Given the description of an element on the screen output the (x, y) to click on. 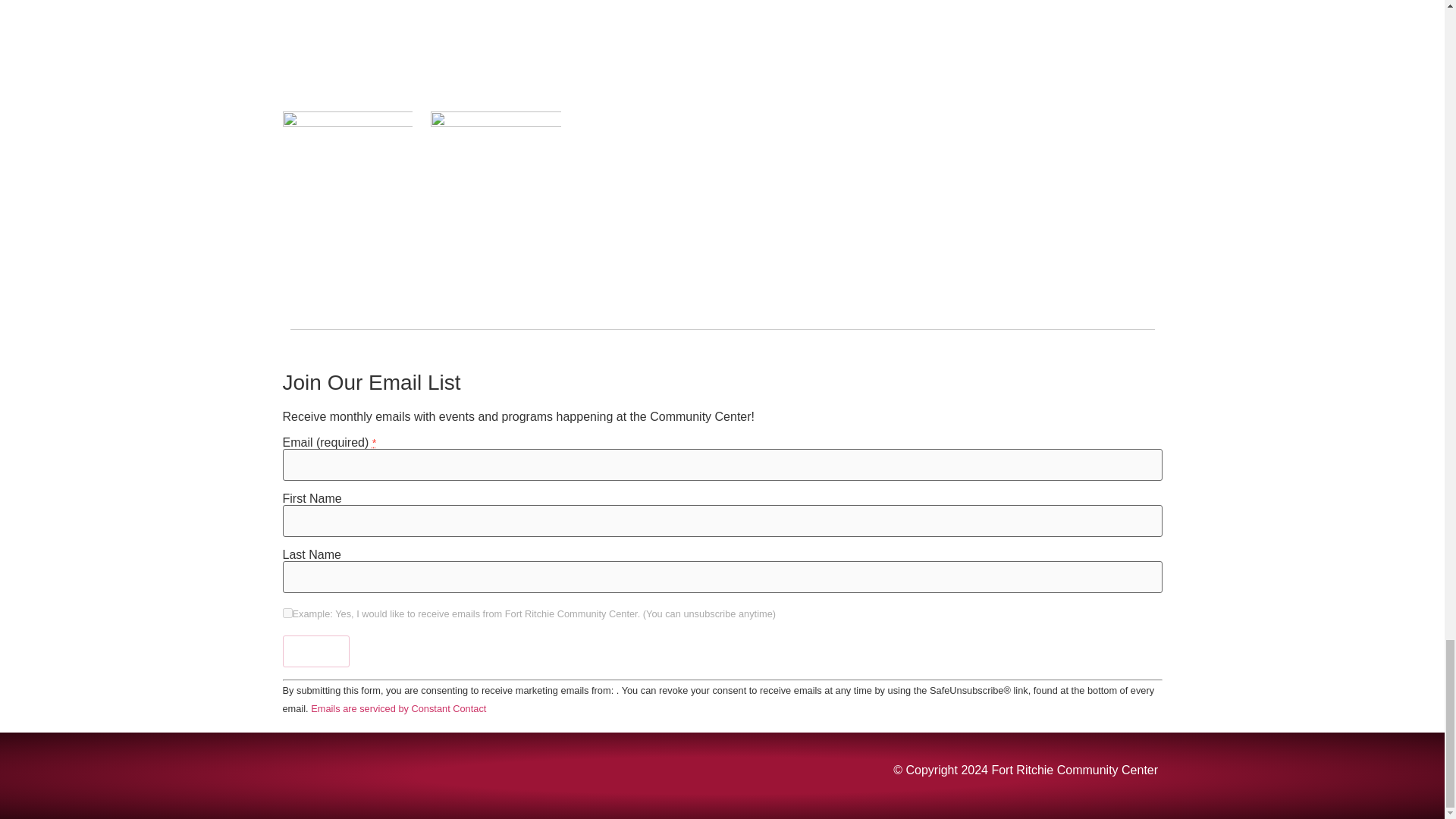
1 (287, 613)
Sign up (315, 651)
